Given the description of an element on the screen output the (x, y) to click on. 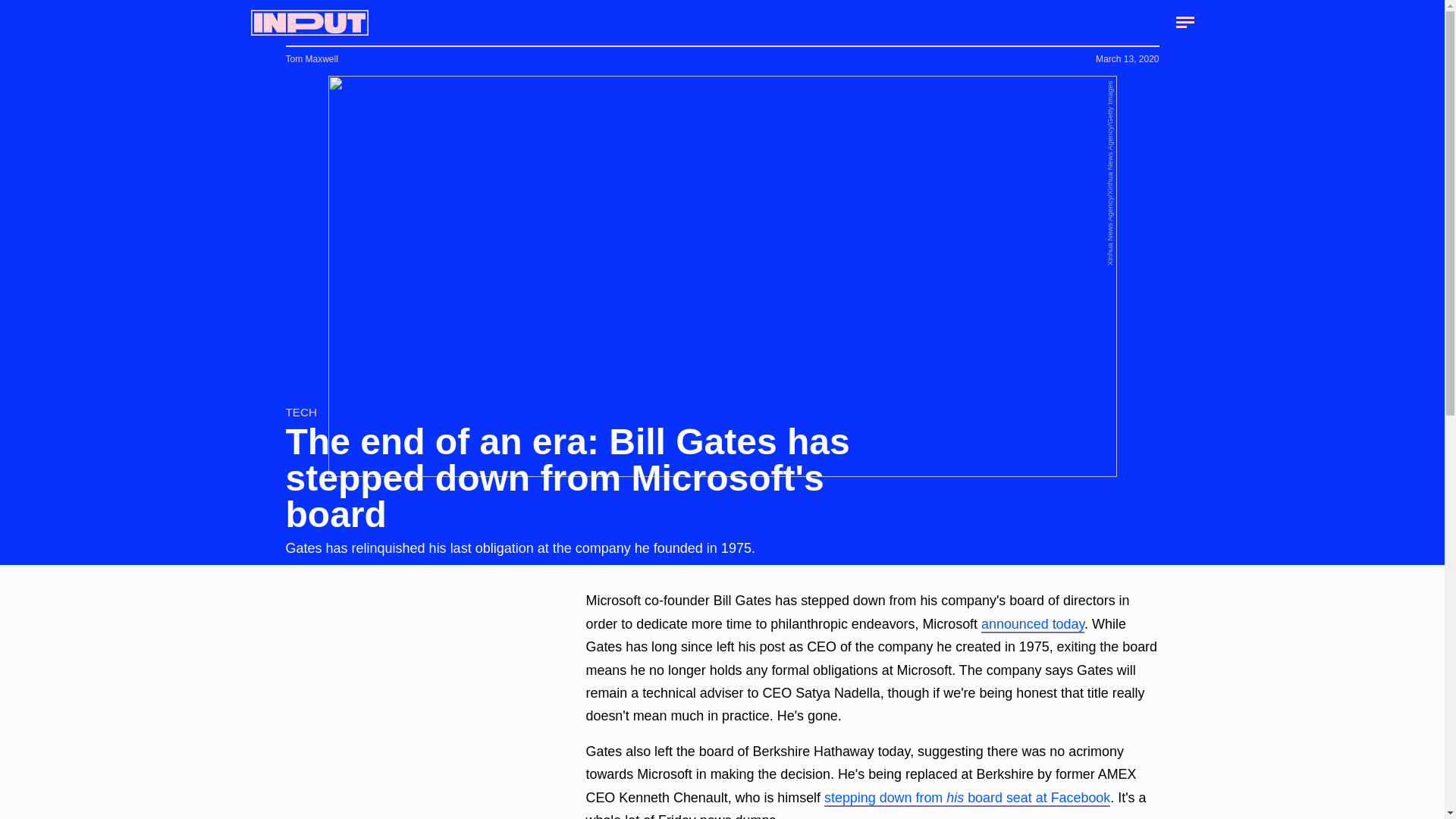
announced today (1032, 624)
stepping down from his board seat at Facebook (966, 798)
Input (309, 22)
Tom Maxwell (311, 59)
